Given the description of an element on the screen output the (x, y) to click on. 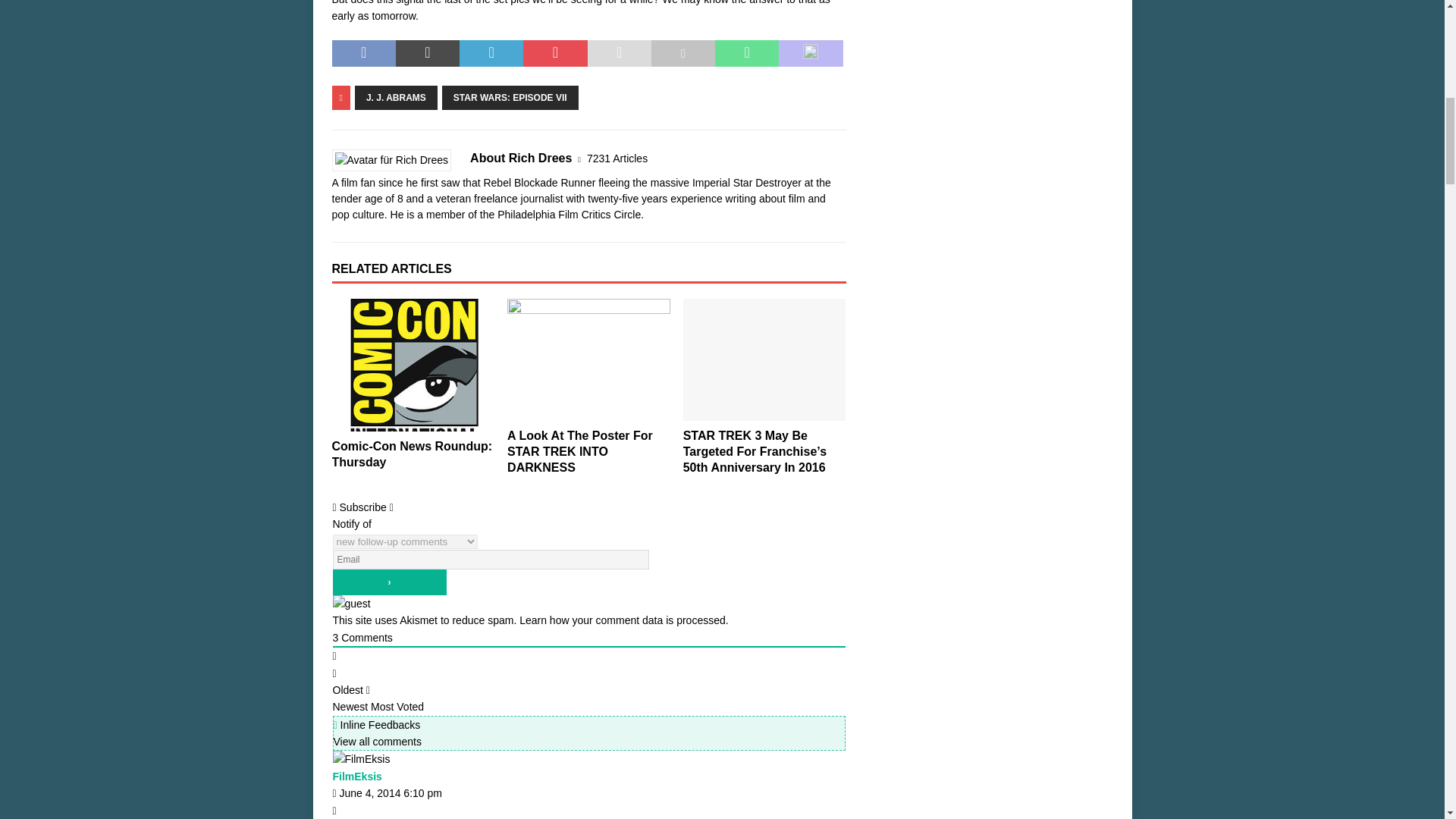
Drew Goddard Set To Write, Direct X-FORCE For Fox (411, 443)
7233 Articles (616, 158)
Print this article (682, 53)
STAR WARS: EPISODE VII (510, 97)
Share on Facebook (363, 53)
Drew Goddard Set To Write, Direct X-FORCE For Fox (411, 443)
Drew Goddard Set To Write, Direct X-FORCE For Fox (413, 359)
Share on Whatsapp (746, 53)
Share On Mastodon (810, 53)
Share on LinkedIn (491, 53)
